Given the description of an element on the screen output the (x, y) to click on. 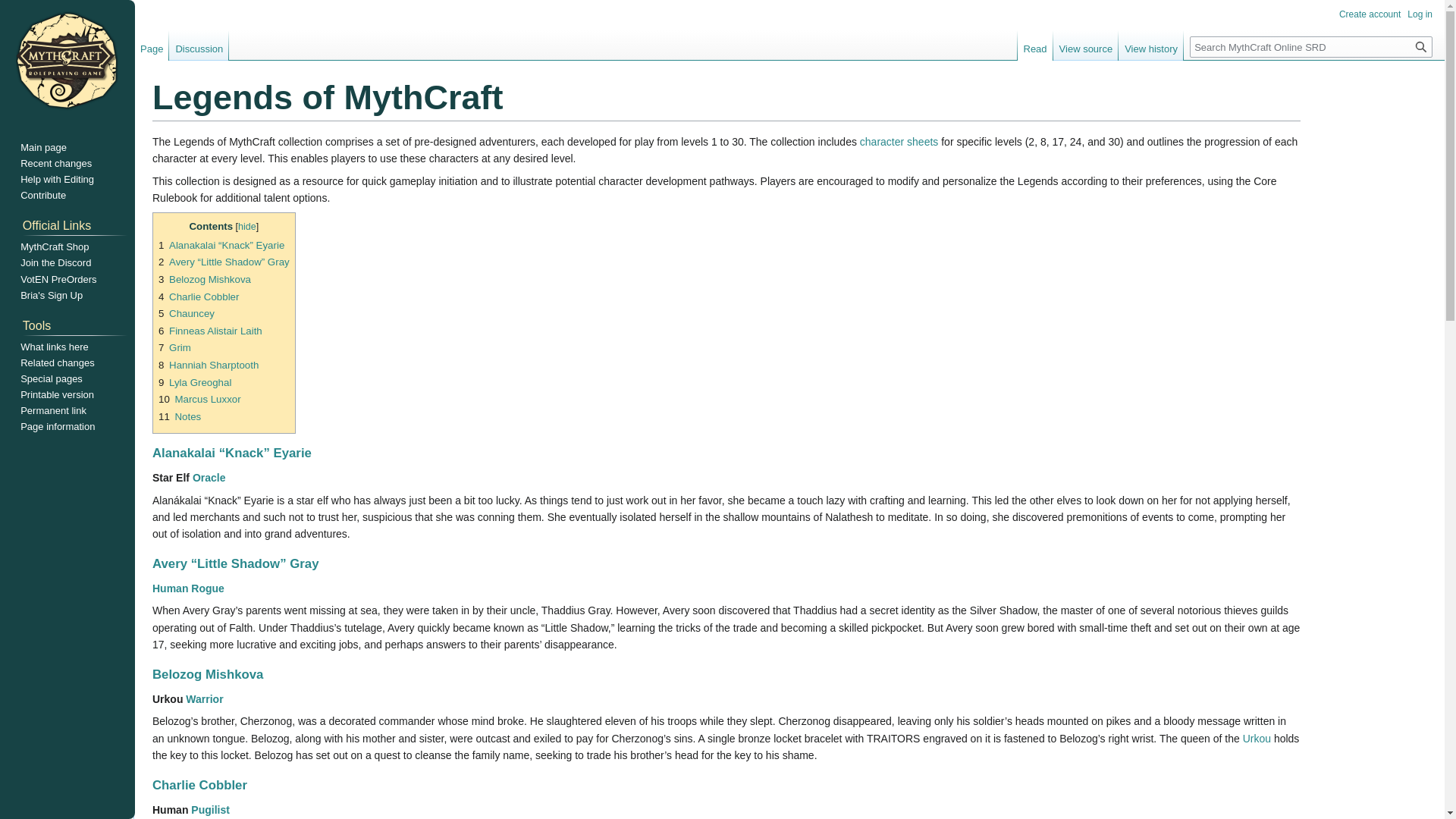
Character Sheets (899, 141)
Rogue (207, 588)
Urkou (1257, 738)
3 Belozog Mishkova (204, 279)
Oracle (208, 477)
Oracle (208, 477)
Pugilist (210, 809)
Human (169, 588)
Urkou (1257, 738)
Charlie Cobbler (199, 785)
Go (1420, 46)
Charlie Cobbler (199, 785)
Belozog Mishkova (207, 674)
Search (1420, 46)
Pugilist (210, 809)
